Given the description of an element on the screen output the (x, y) to click on. 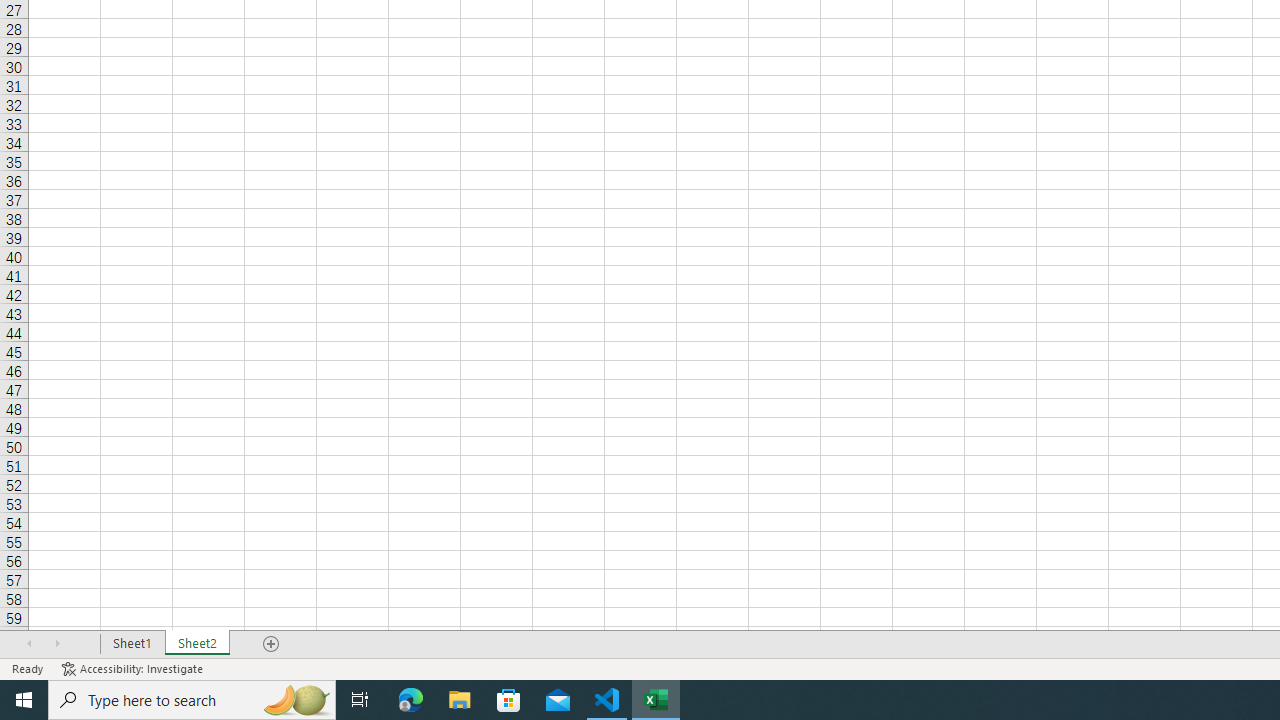
Sheet2 (197, 644)
Accessibility Checker Accessibility: Investigate (134, 668)
